Given the description of an element on the screen output the (x, y) to click on. 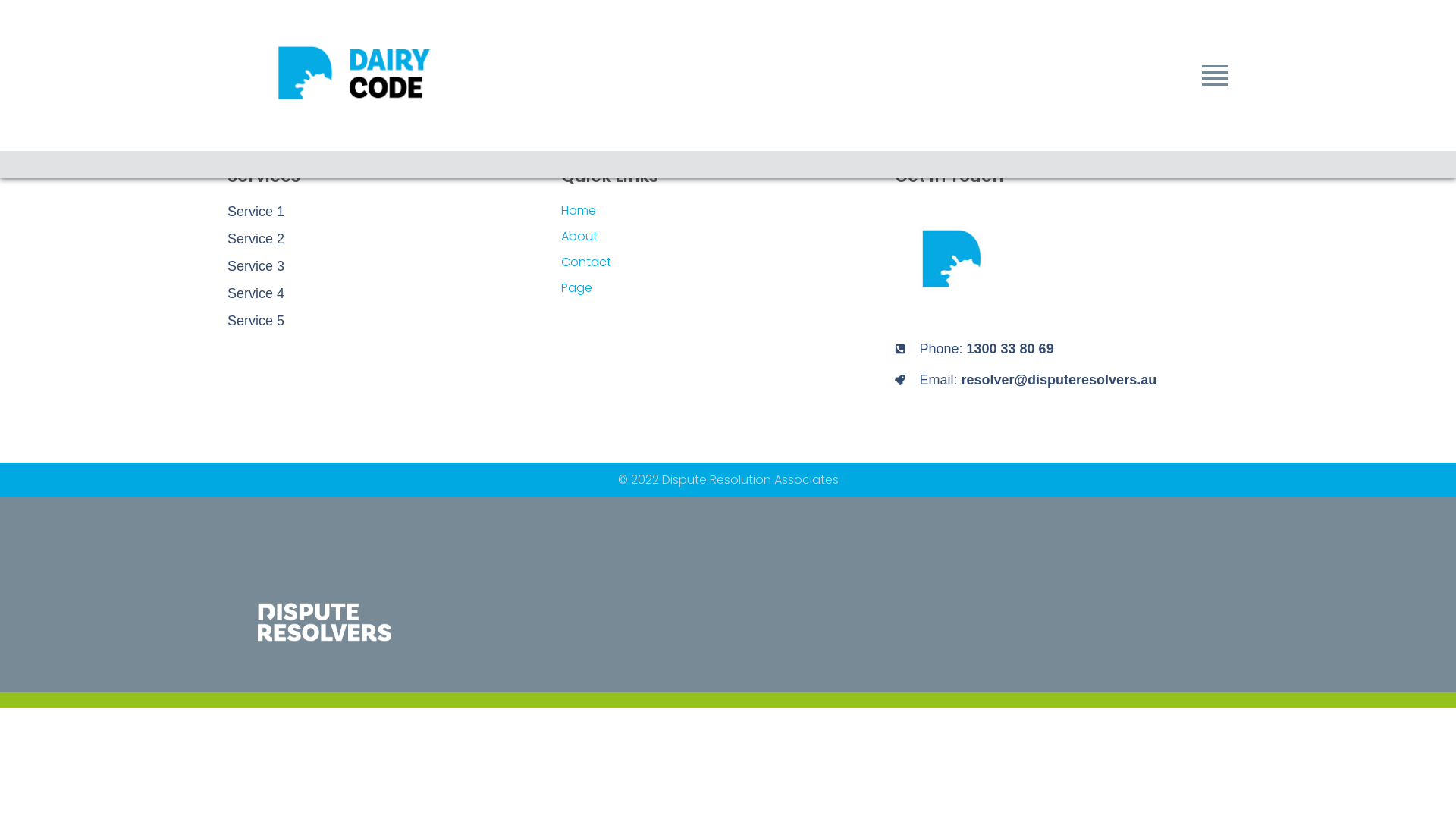
Contact Element type: text (727, 262)
Page Element type: text (727, 288)
Service 4 Element type: text (394, 293)
Service 1 Element type: text (394, 211)
Email: resolver@disputeresolvers.au Element type: text (1061, 379)
About Element type: text (727, 236)
Phone: 1300 33 80 69 Element type: text (1061, 348)
Service 5 Element type: text (394, 320)
Service 3 Element type: text (394, 266)
Home Element type: text (727, 210)
Service 2 Element type: text (394, 238)
